Given the description of an element on the screen output the (x, y) to click on. 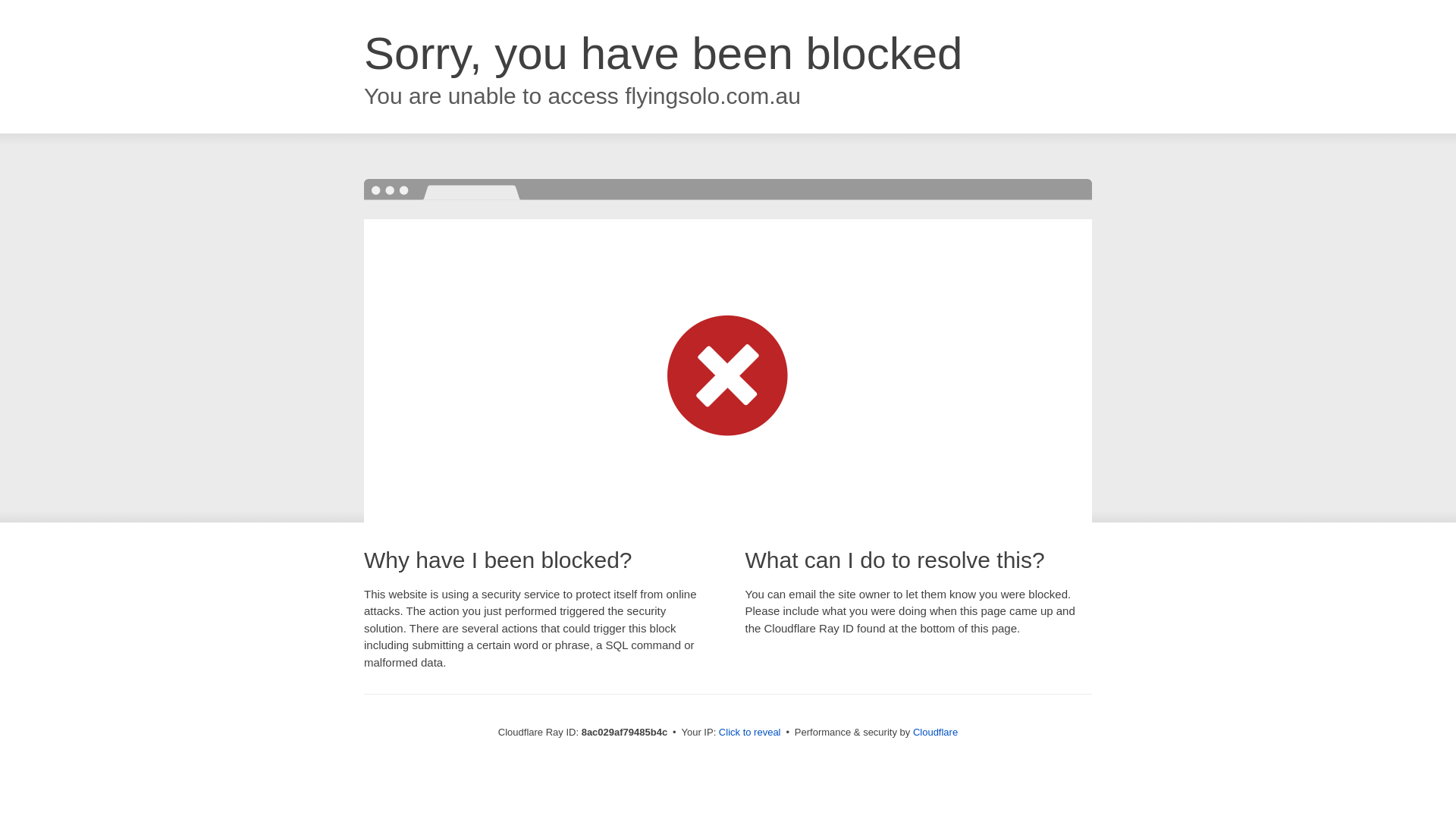
Click to reveal (749, 732)
Cloudflare (935, 731)
